Given the description of an element on the screen output the (x, y) to click on. 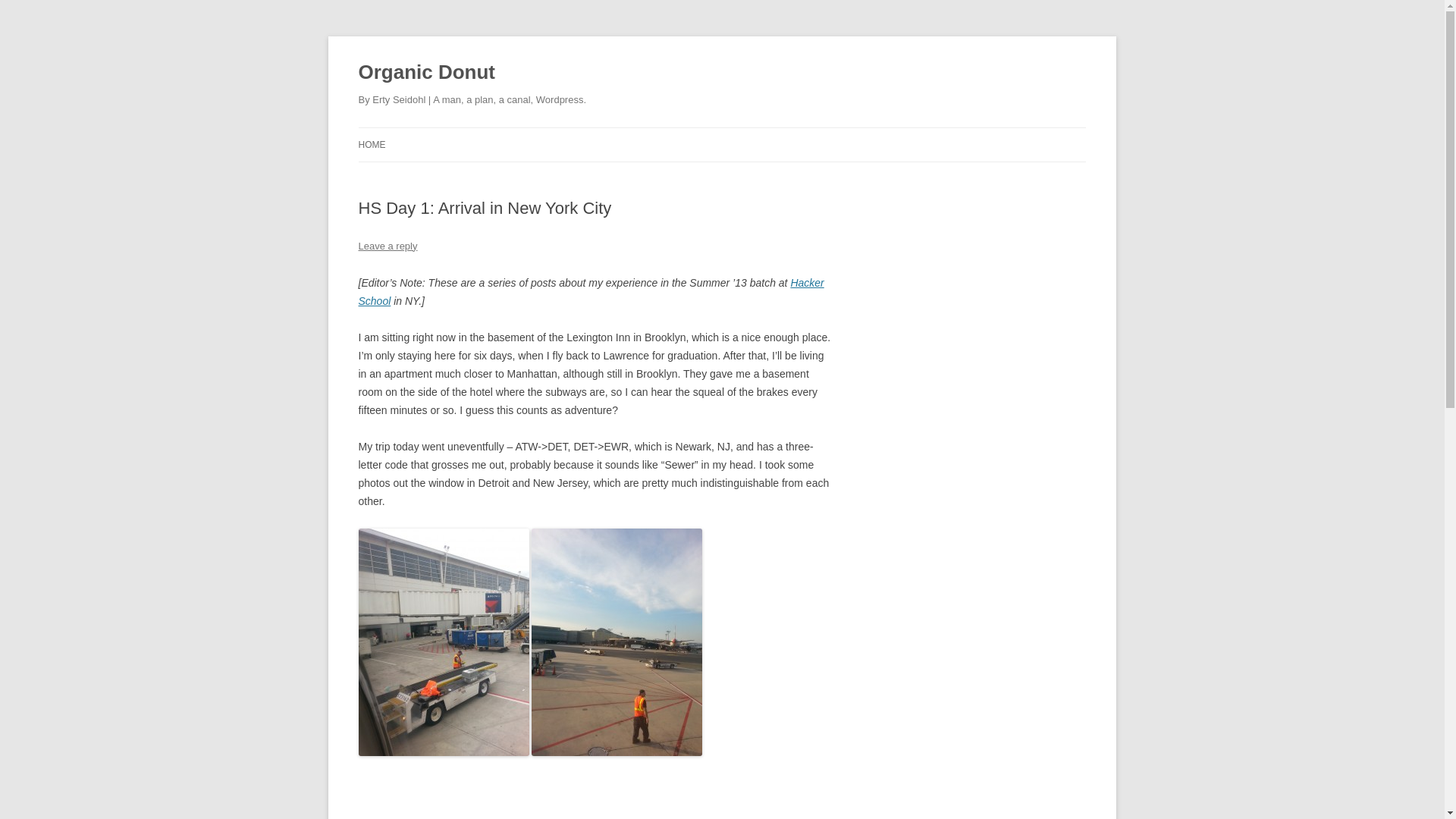
Organic Donut (426, 72)
Leave a reply (387, 245)
Hacker School (591, 291)
